Given the description of an element on the screen output the (x, y) to click on. 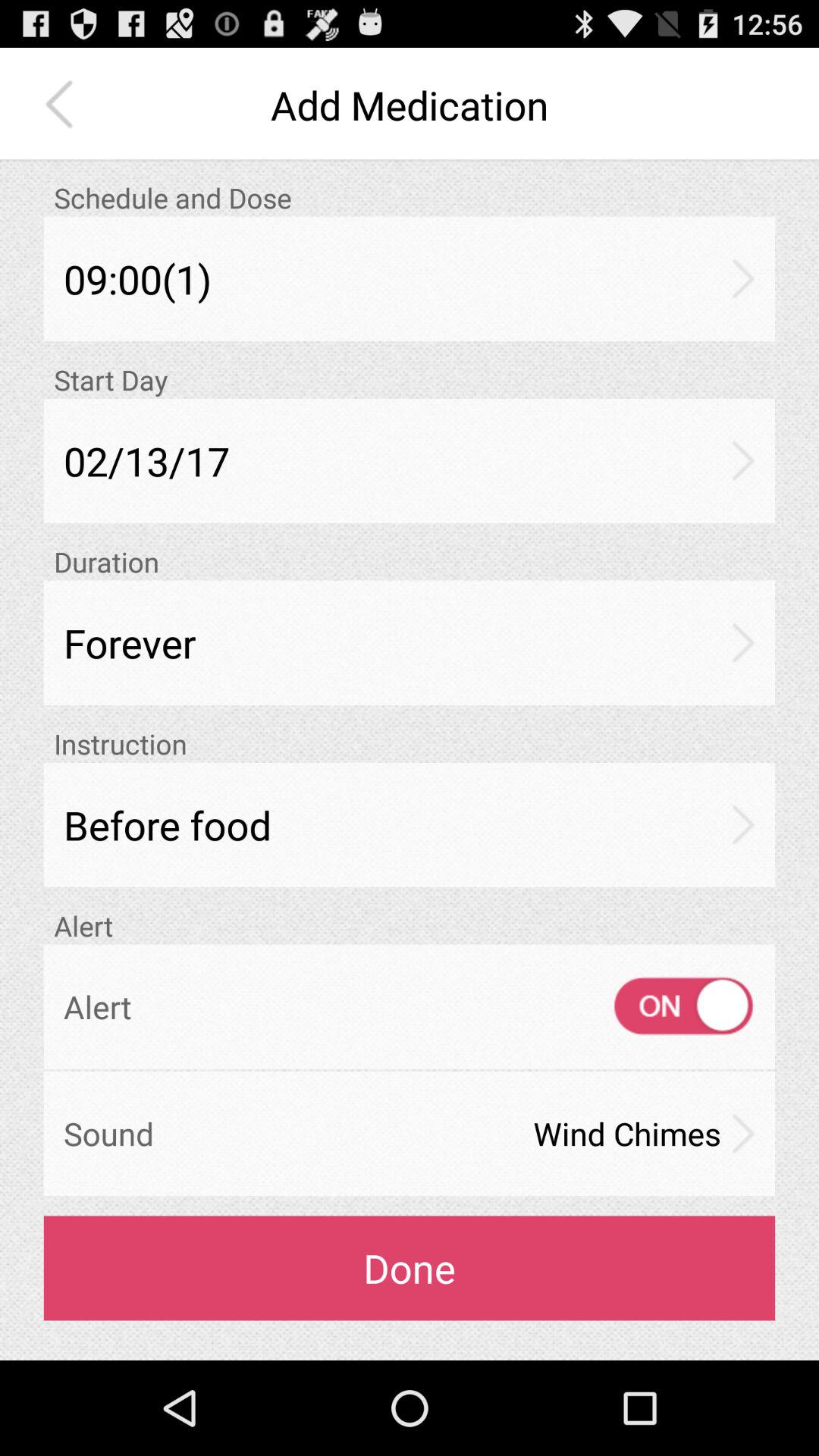
tap icon above instruction app (409, 642)
